Given the description of an element on the screen output the (x, y) to click on. 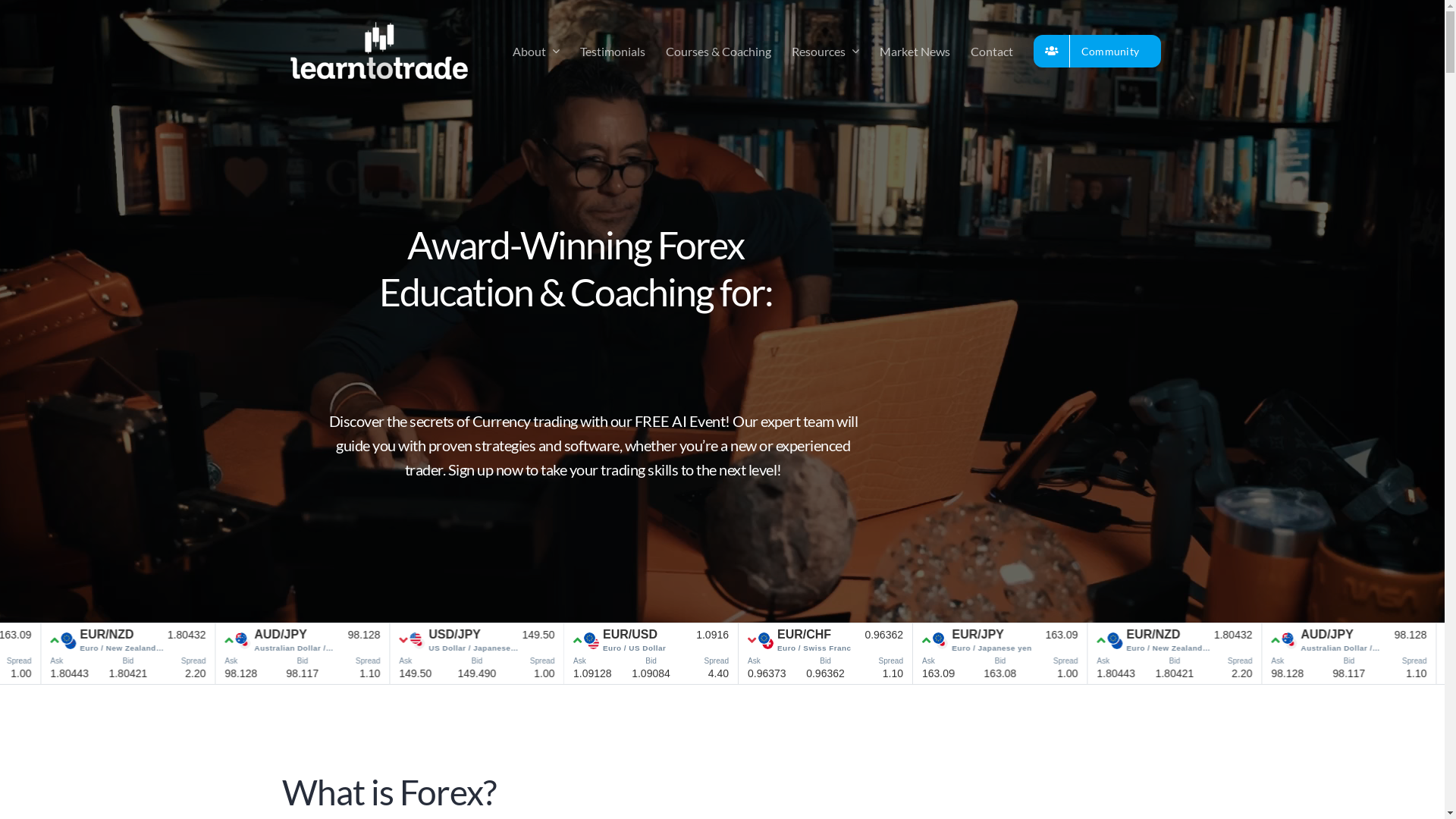
Resources Element type: text (825, 50)
Market News Element type: text (914, 50)
Contact Element type: text (991, 50)
About Element type: text (535, 50)
Courses & Coaching Element type: text (718, 50)
Testimonials Element type: text (612, 50)
Community Element type: text (1097, 50)
